Given the description of an element on the screen output the (x, y) to click on. 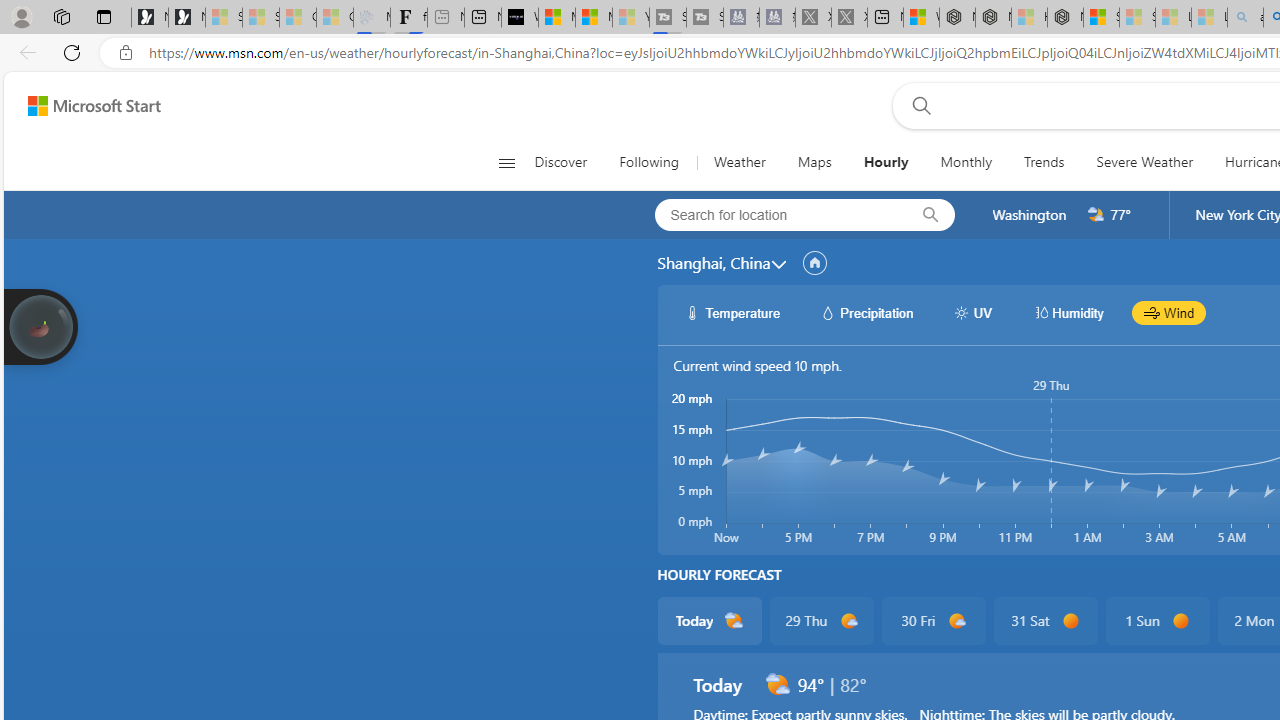
hourlyChart/temperatureWhite Temperature (733, 312)
hourlyChart/humidityWhite (1040, 312)
hourlyChart/humidityWhite Humidity (1068, 312)
hourlyChart/precipitationWhite Precipitation (866, 312)
31 Sat d0000 (1045, 620)
hourlyChart/precipitationWhite (828, 312)
d1000 (956, 621)
locationBar/search (930, 215)
Monthly (966, 162)
